Given the description of an element on the screen output the (x, y) to click on. 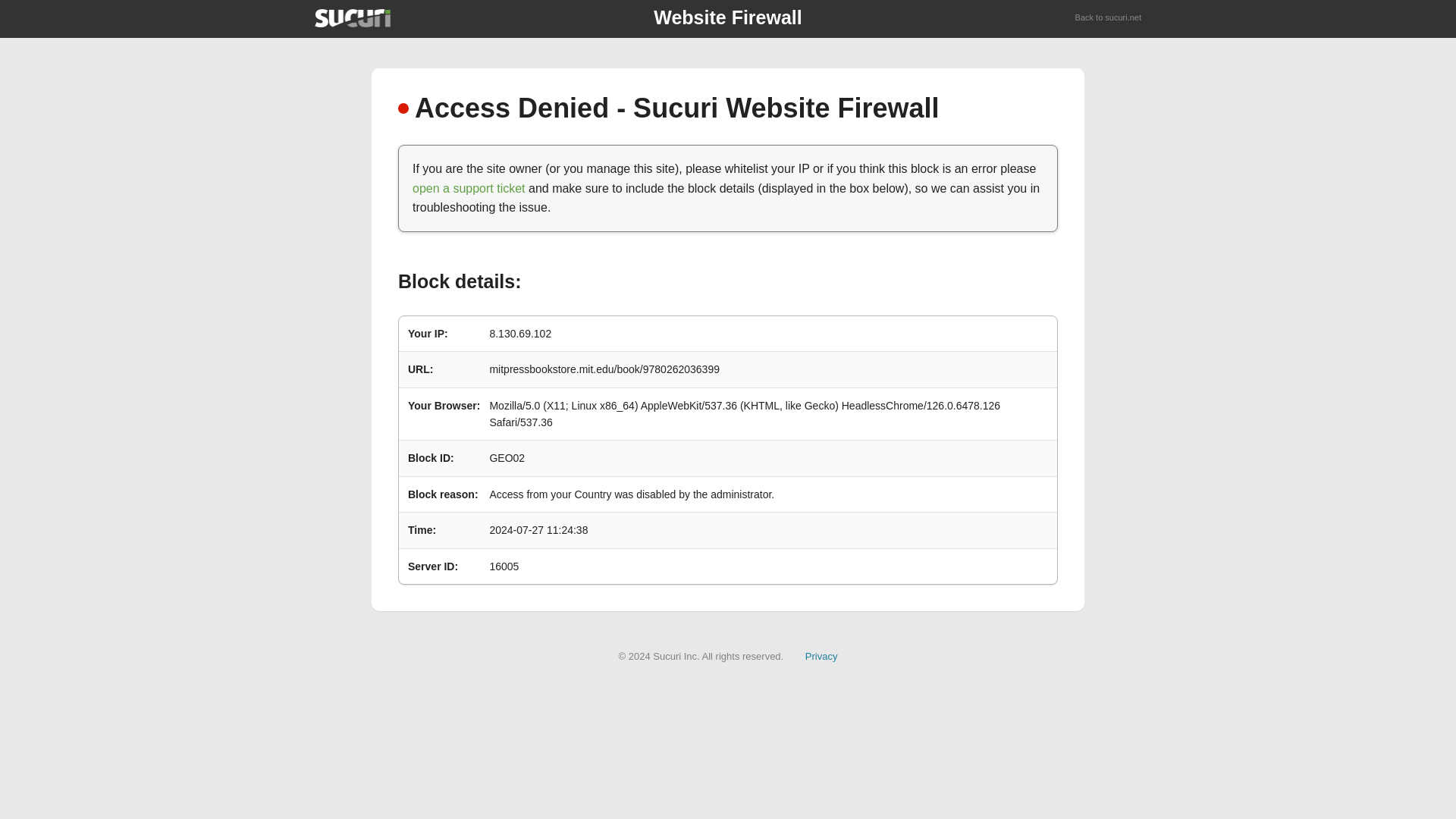
open a support ticket (468, 187)
Back to sucuri.net (1108, 18)
Privacy (821, 655)
